Given the description of an element on the screen output the (x, y) to click on. 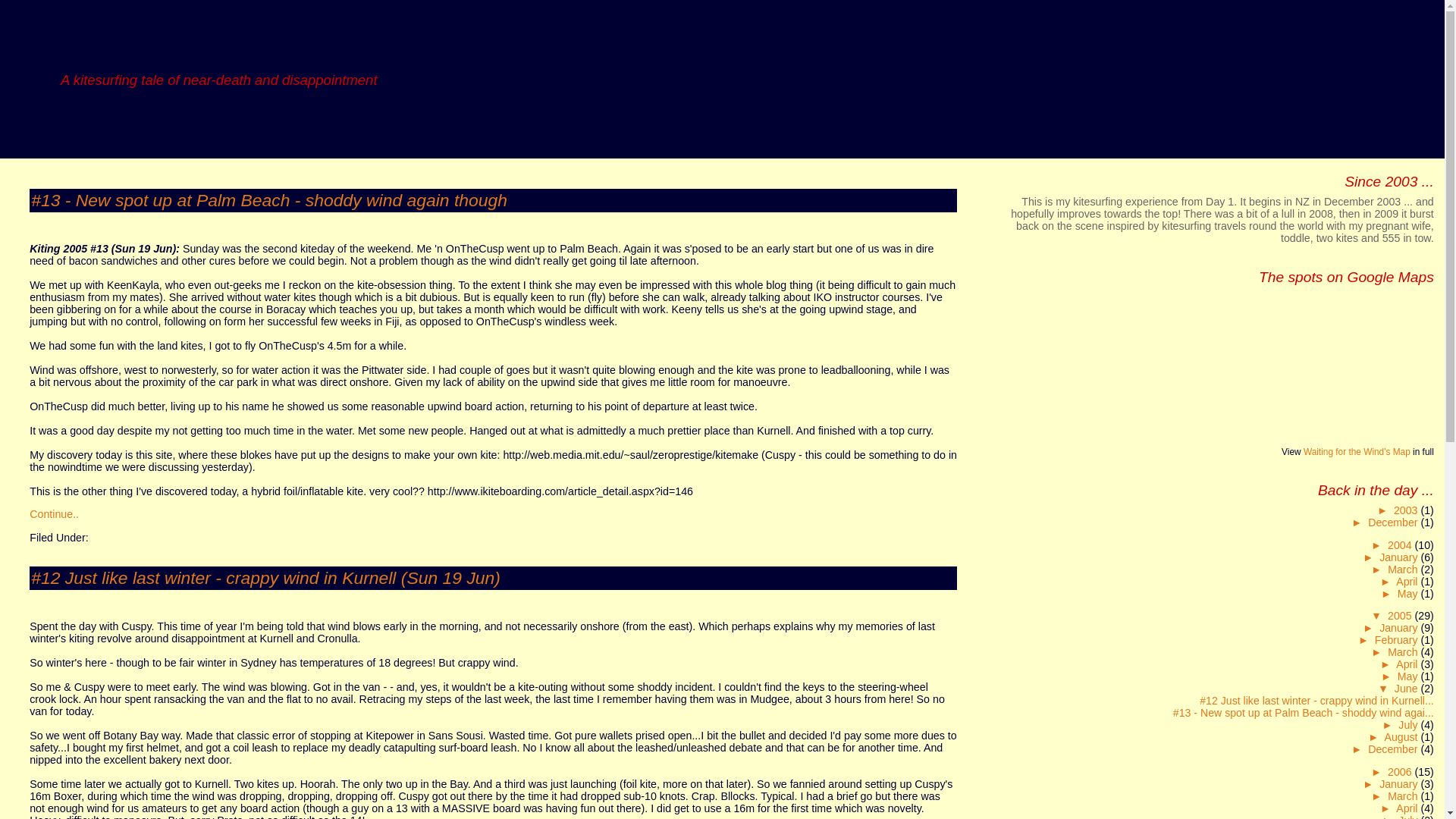
January (1399, 627)
May (1409, 676)
March (1404, 569)
January (1399, 557)
Waiting for the Wind (227, 37)
December (1394, 522)
2005 (1401, 615)
Waiting for the Wind's Map (1356, 451)
April (1408, 664)
2003 (1407, 510)
Continue.. (53, 513)
2004 (1401, 544)
February (1397, 639)
March (1404, 652)
April (1408, 581)
